Given the description of an element on the screen output the (x, y) to click on. 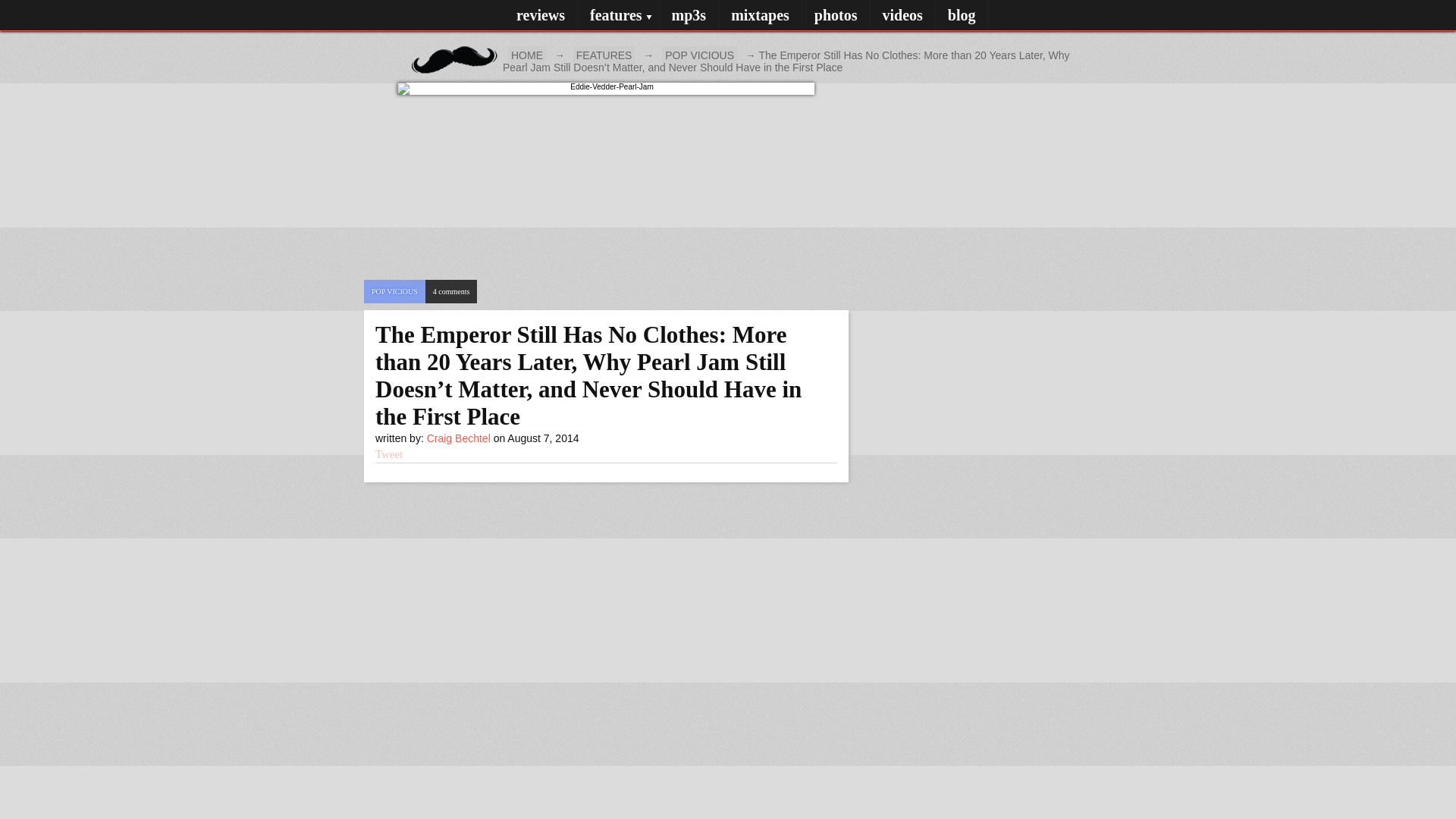
mp3s (689, 15)
photos (835, 15)
FEATURES (431, 45)
mixtapes (603, 54)
features (760, 15)
HOME (618, 15)
blog (527, 54)
POP VICIOUS (962, 15)
videos (699, 54)
